Given the description of an element on the screen output the (x, y) to click on. 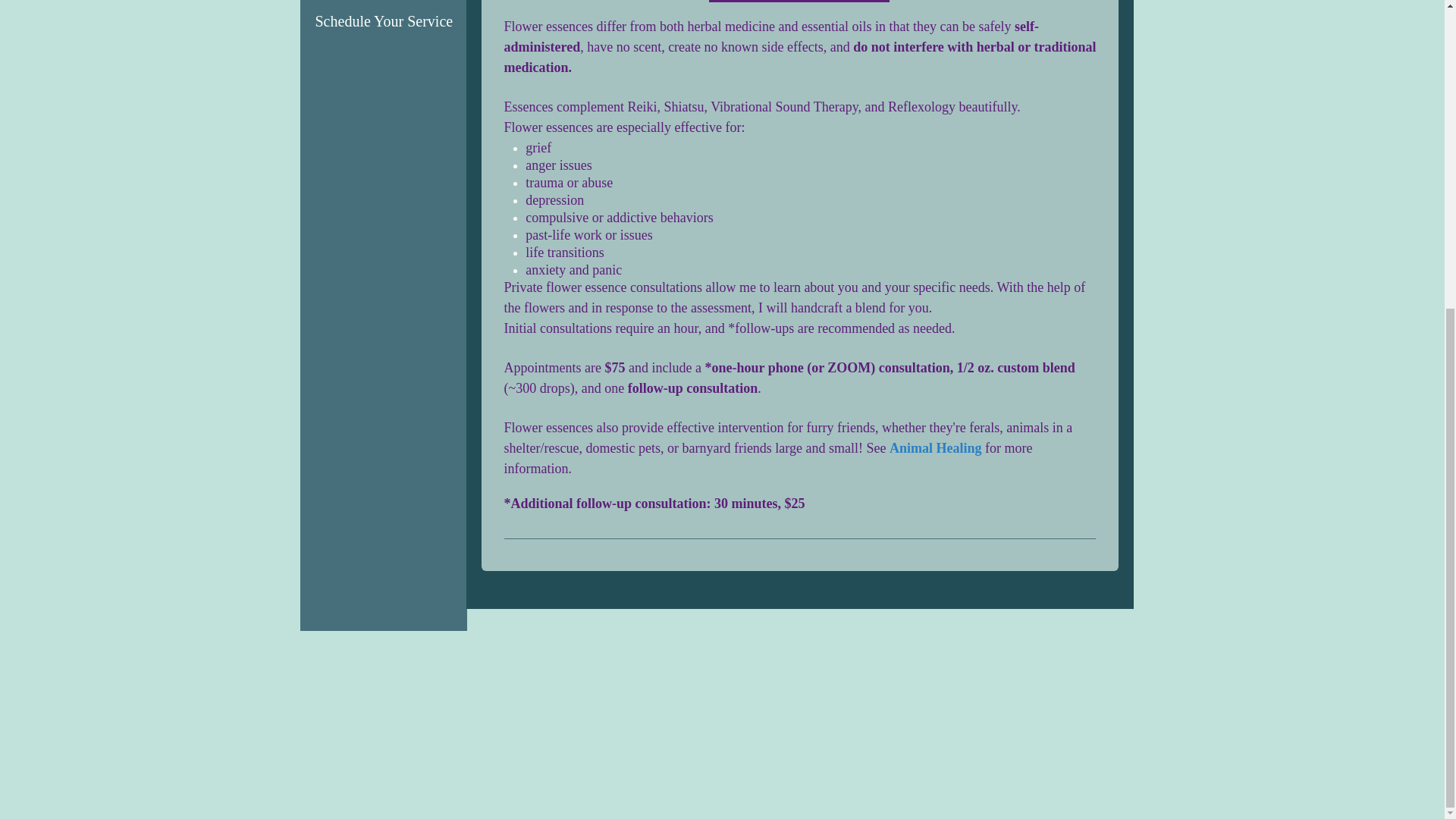
Sylvia's Story (357, 2)
SCHEDULE YOUR SERVICE (797, 1)
Schedule Your Service (384, 20)
Animal Healing (935, 449)
